Given the description of an element on the screen output the (x, y) to click on. 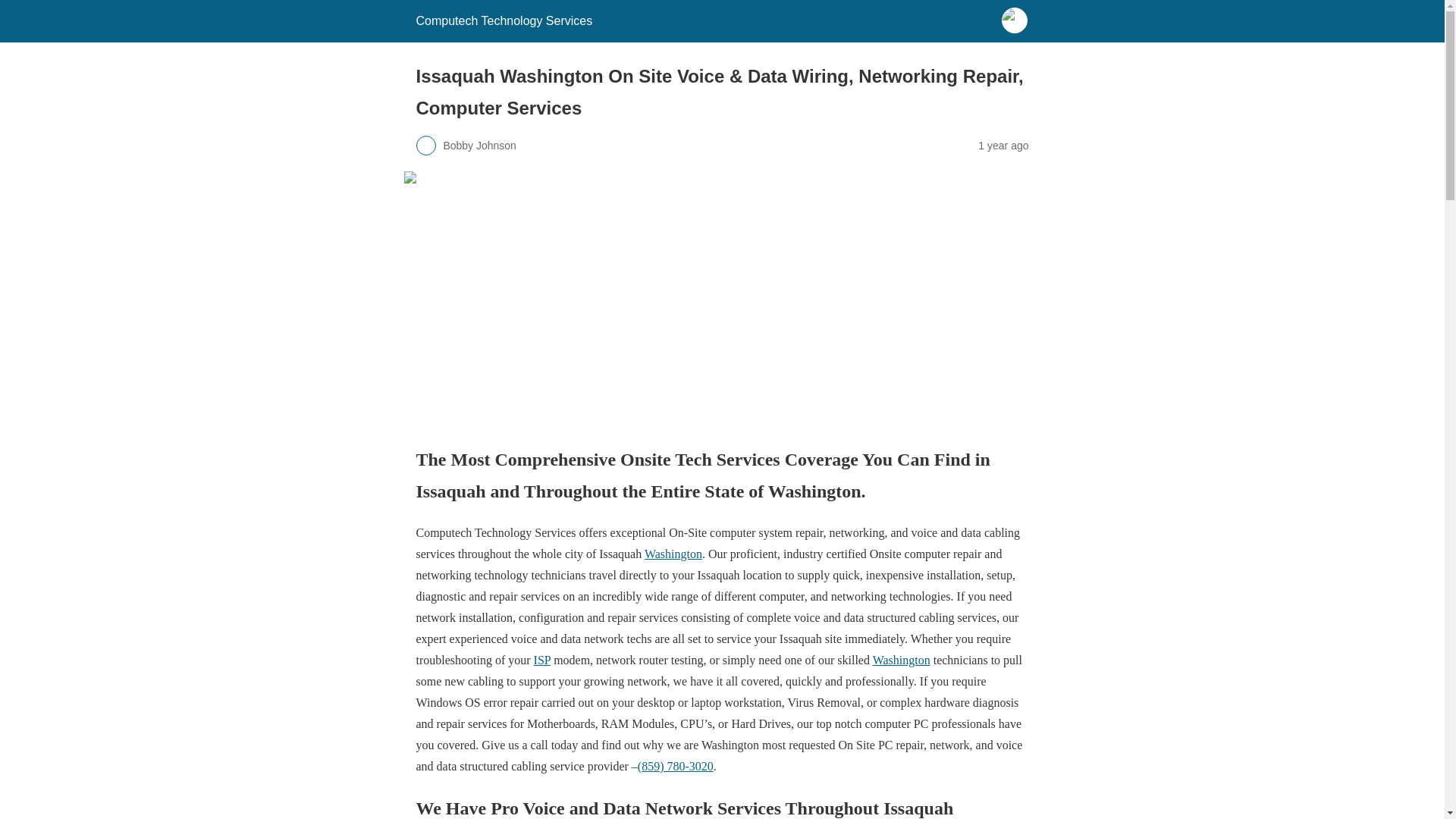
Washington (673, 553)
ISP (542, 659)
Washington (901, 659)
Computech Technology Services (503, 20)
